Given the description of an element on the screen output the (x, y) to click on. 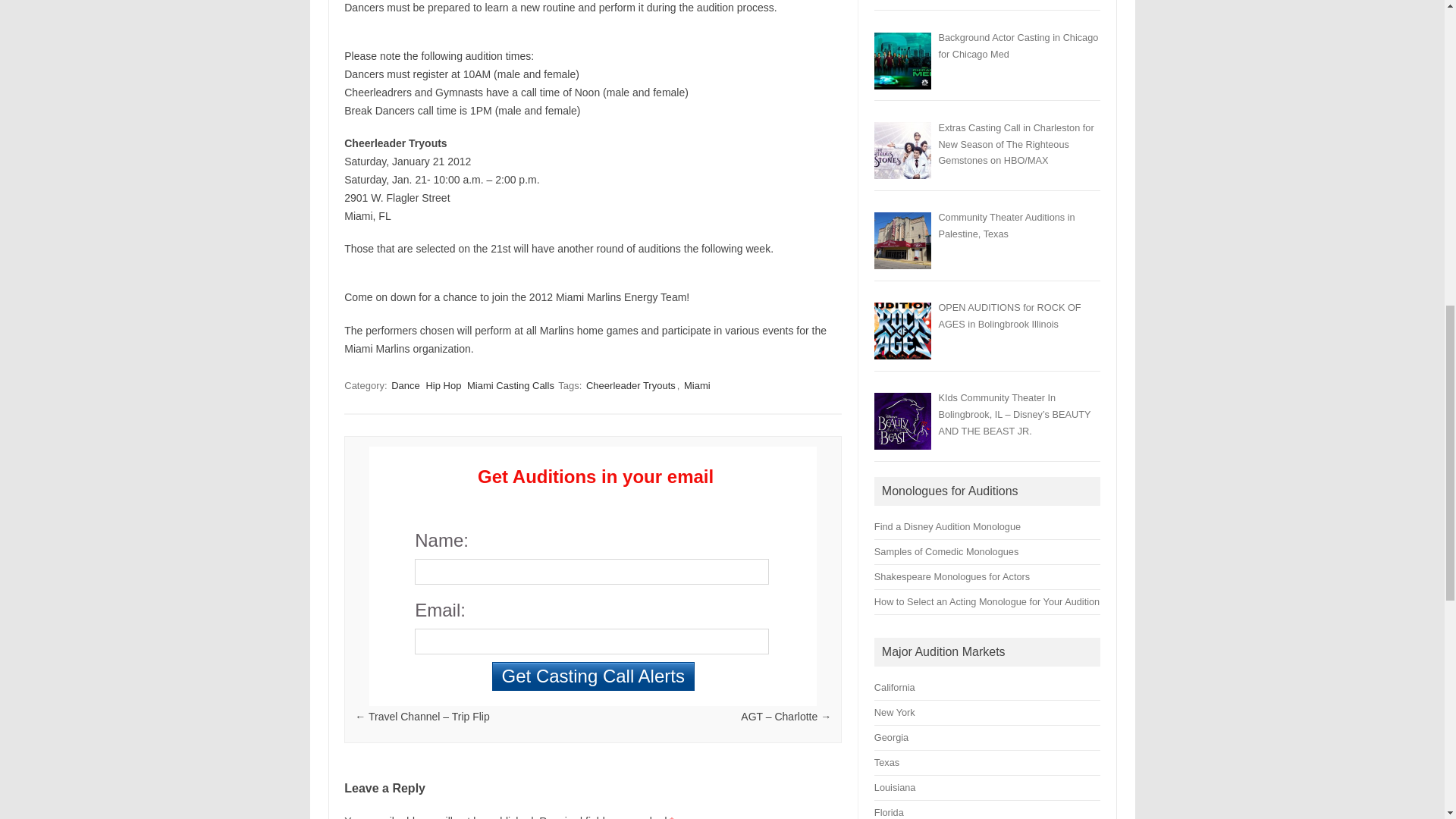
Miami Casting Calls (510, 385)
Get Casting Call Alerts (593, 676)
Miami (696, 385)
Cheerleader Tryouts (631, 385)
Dance (406, 385)
Hip Hop (443, 385)
Get Casting Call Alerts (593, 676)
